Given the description of an element on the screen output the (x, y) to click on. 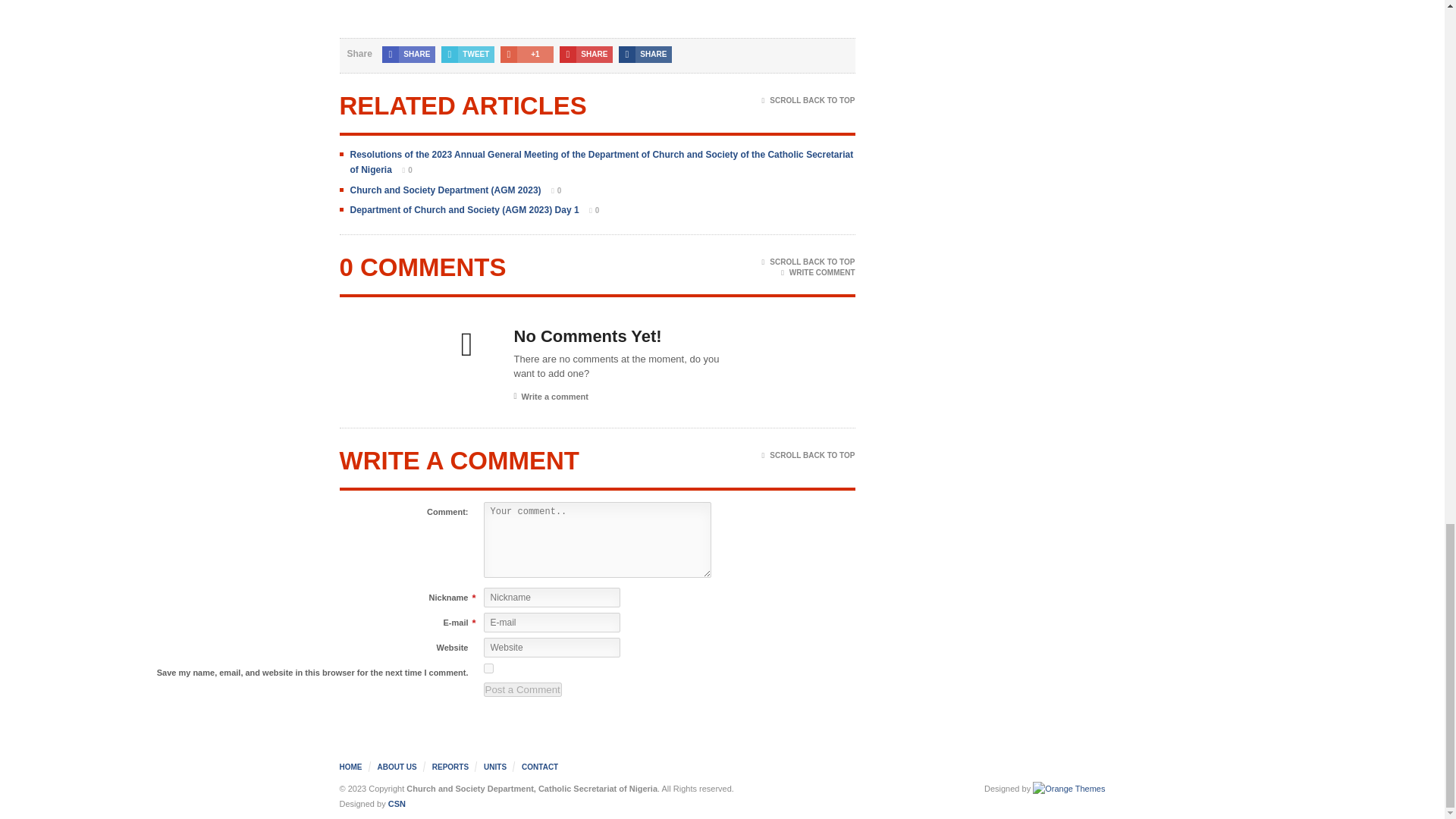
SHARE (644, 54)
yes (488, 668)
Post a Comment (522, 689)
SHARE (585, 54)
SCROLL BACK TO TOP (808, 100)
0 (403, 170)
SHARE (408, 54)
0 (551, 191)
TWEET (468, 54)
